Given the description of an element on the screen output the (x, y) to click on. 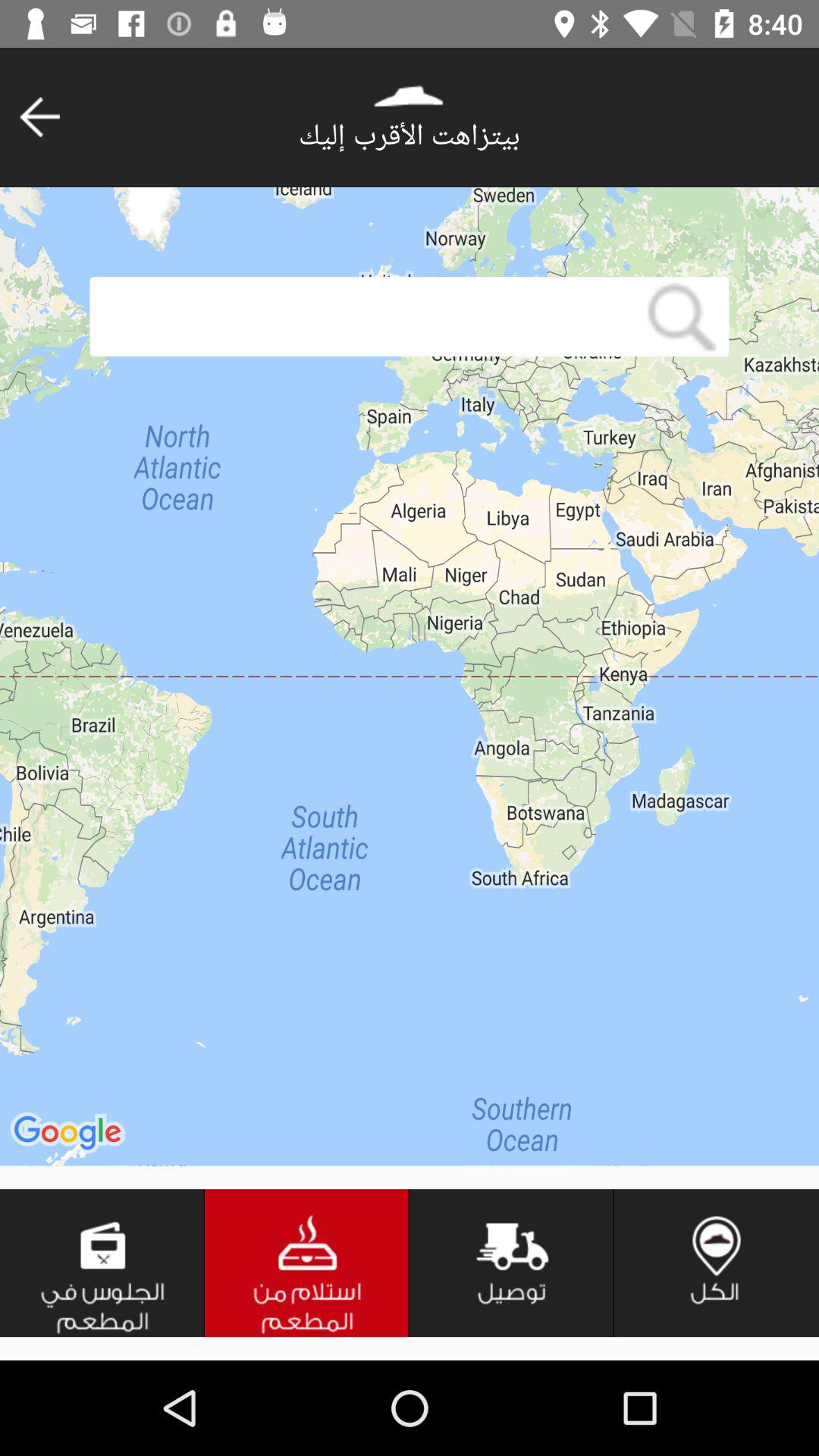
choose pizza options (306, 1262)
